Given the description of an element on the screen output the (x, y) to click on. 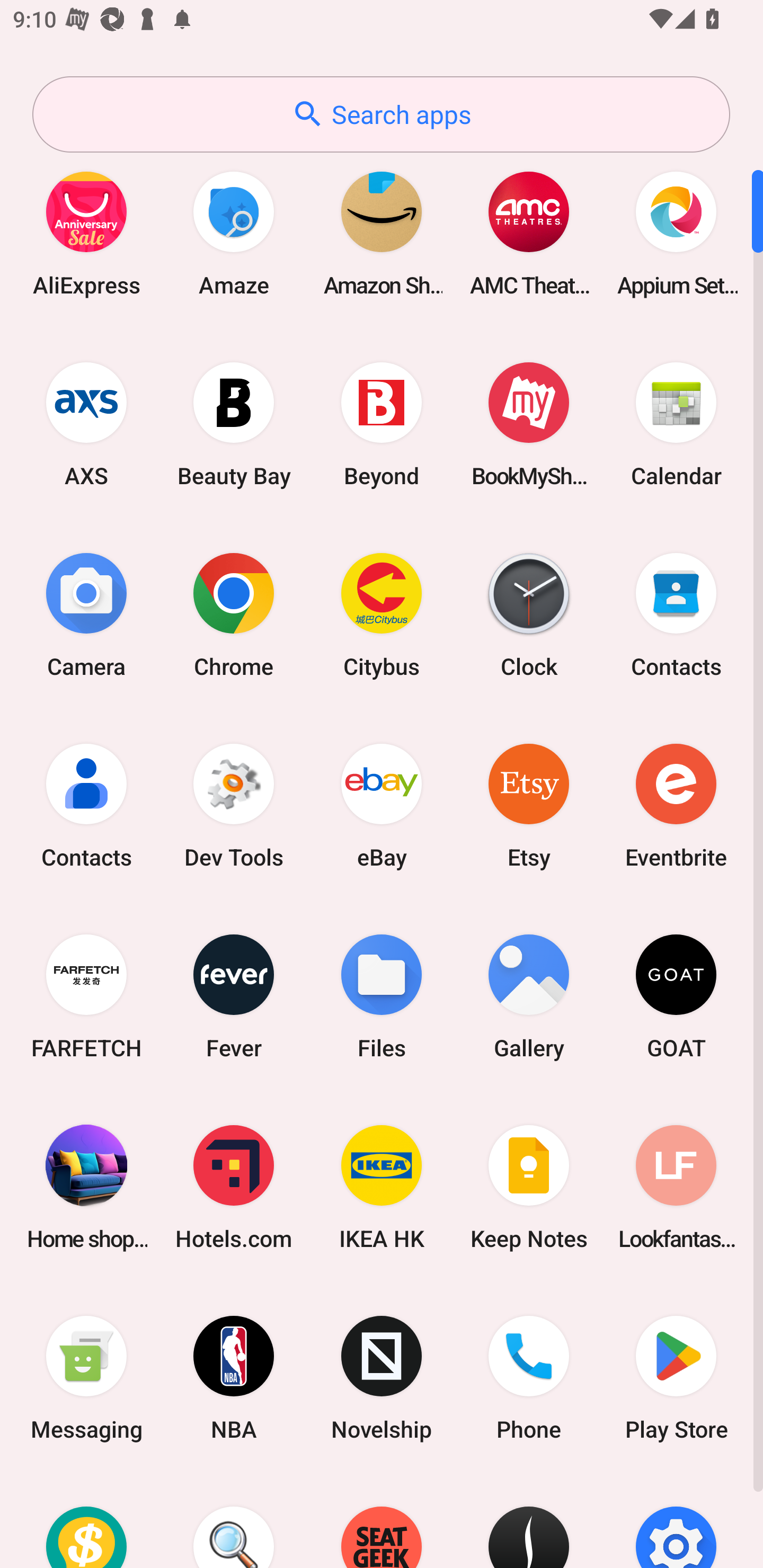
  Search apps (381, 114)
AliExpress (86, 233)
Amaze (233, 233)
Amazon Shopping (381, 233)
AMC Theatres (528, 233)
Appium Settings (676, 233)
AXS (86, 424)
Beauty Bay (233, 424)
Beyond (381, 424)
BookMyShow (528, 424)
Calendar (676, 424)
Camera (86, 614)
Chrome (233, 614)
Citybus (381, 614)
Clock (528, 614)
Contacts (676, 614)
Contacts (86, 805)
Dev Tools (233, 805)
eBay (381, 805)
Etsy (528, 805)
Eventbrite (676, 805)
FARFETCH (86, 996)
Fever (233, 996)
Files (381, 996)
Gallery (528, 996)
GOAT (676, 996)
Home shopping (86, 1186)
Hotels.com (233, 1186)
IKEA HK (381, 1186)
Keep Notes (528, 1186)
Lookfantastic (676, 1186)
Messaging (86, 1377)
NBA (233, 1377)
Novelship (381, 1377)
Phone (528, 1377)
Play Store (676, 1377)
